Given the description of an element on the screen output the (x, y) to click on. 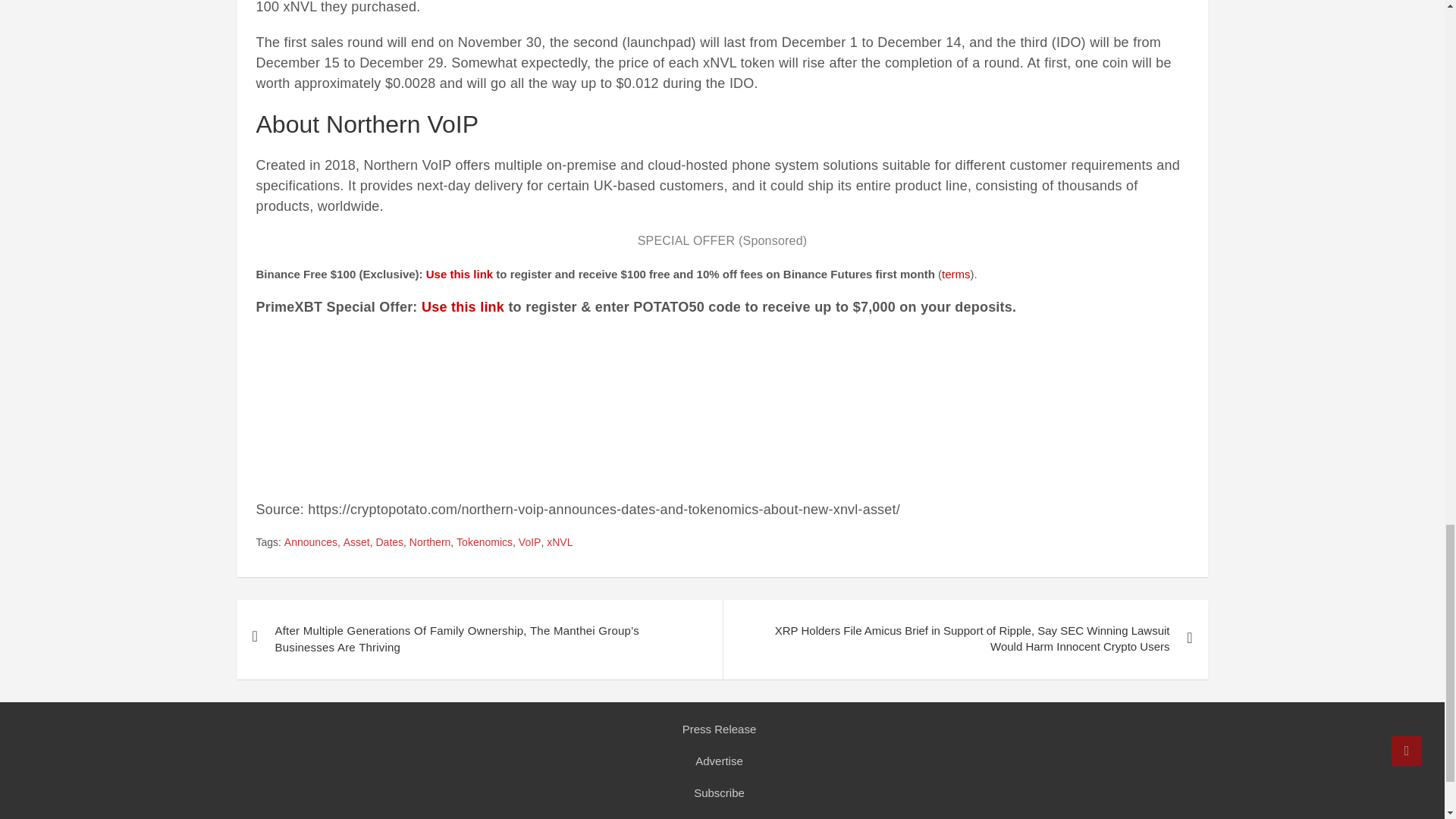
Use this link (462, 306)
VoIP (529, 542)
Use this link (459, 273)
Northern (429, 542)
Dates (389, 542)
xNVL (559, 542)
terms (956, 273)
Tokenomics (484, 542)
Asset (356, 542)
Announces (310, 542)
